Given the description of an element on the screen output the (x, y) to click on. 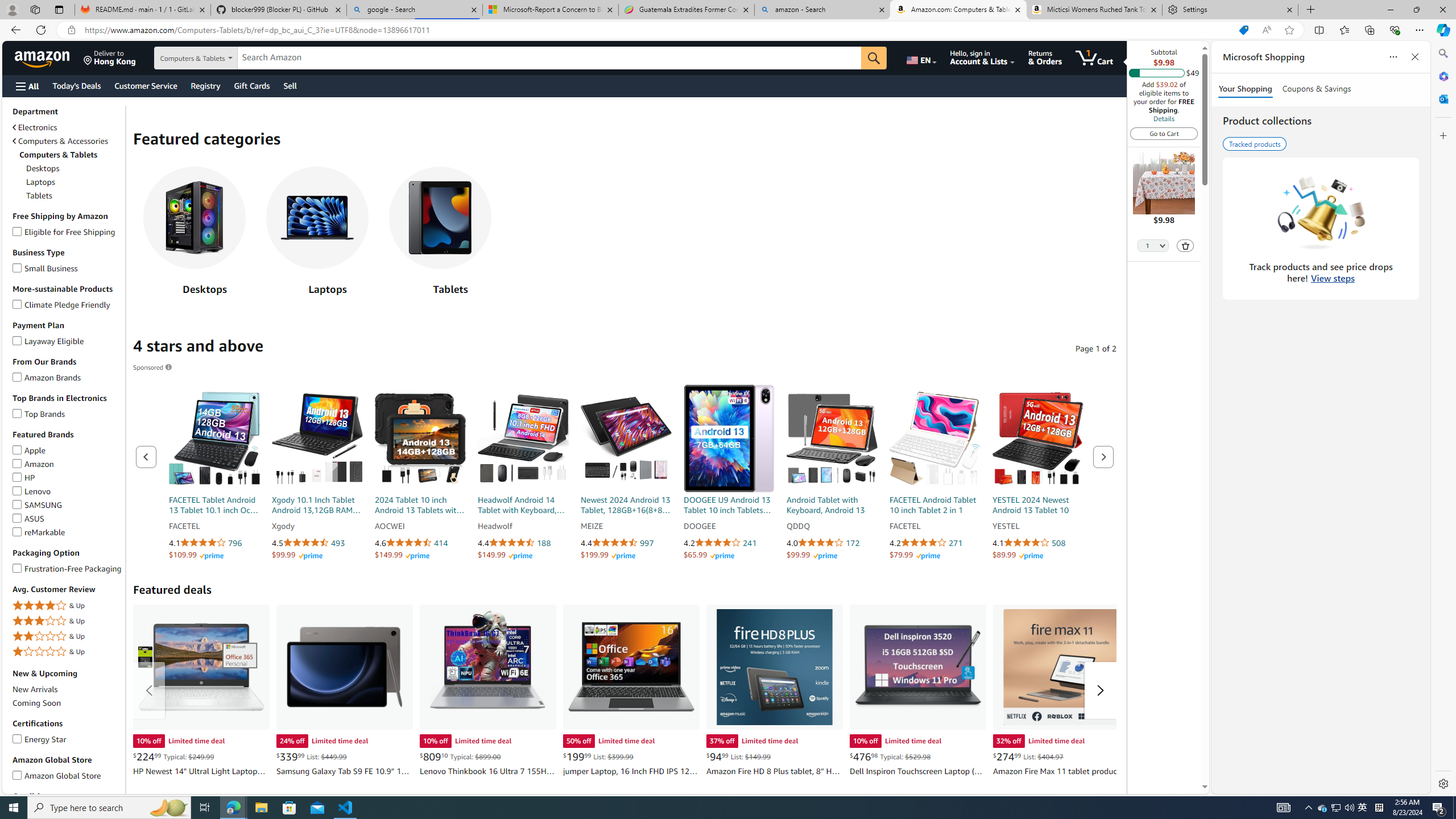
Amazon (43, 57)
Layaway Eligible Layaway Eligible (48, 340)
ASUS ASUS (28, 517)
4 Stars & Up (67, 605)
Shopping in Microsoft Edge (1243, 29)
Search in (210, 58)
Headwolf (523, 526)
